Given the description of an element on the screen output the (x, y) to click on. 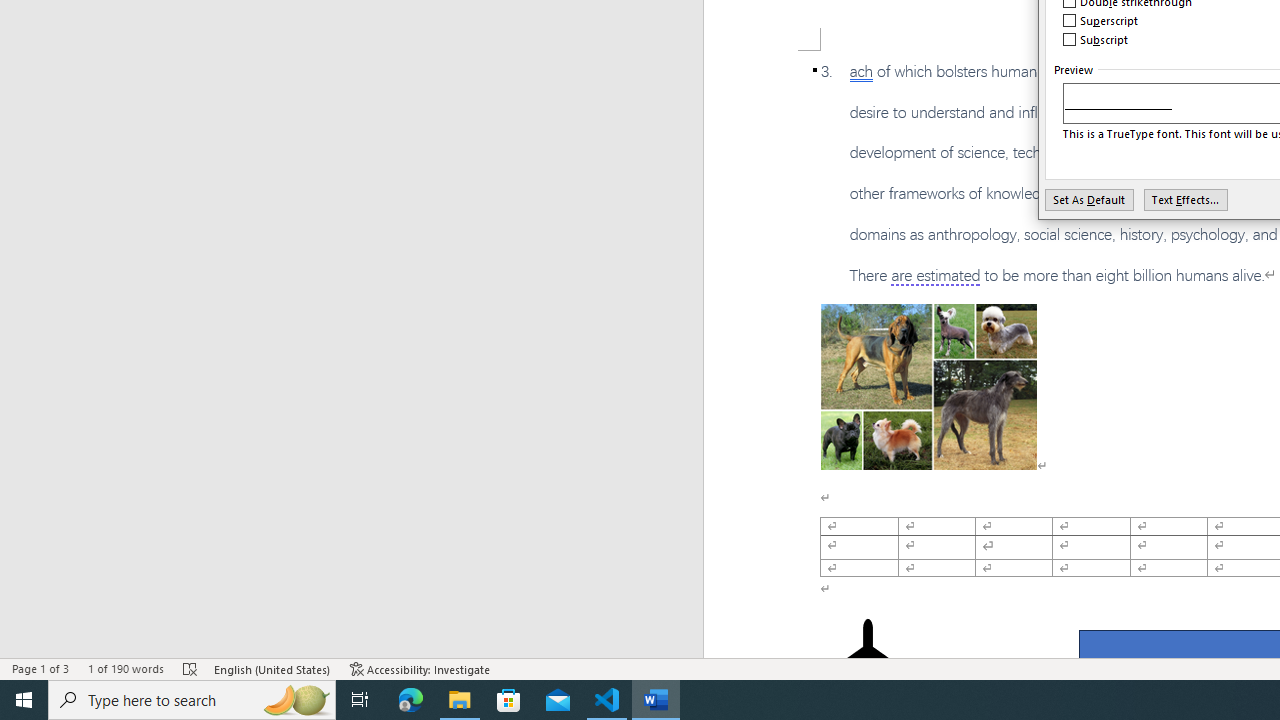
File Explorer - 1 running window (460, 699)
Set As Default (1089, 199)
Morphological variation in six dogs (928, 386)
Task View (359, 699)
Microsoft Edge (411, 699)
Start (24, 699)
Visual Studio Code - 1 running window (607, 699)
Accessibility Checker Accessibility: Investigate (420, 668)
Page Number Page 1 of 3 (39, 668)
Search highlights icon opens search home window (295, 699)
Word - 1 running window (656, 699)
Spelling and Grammar Check Errors (191, 668)
Microsoft Store (509, 699)
